Given the description of an element on the screen output the (x, y) to click on. 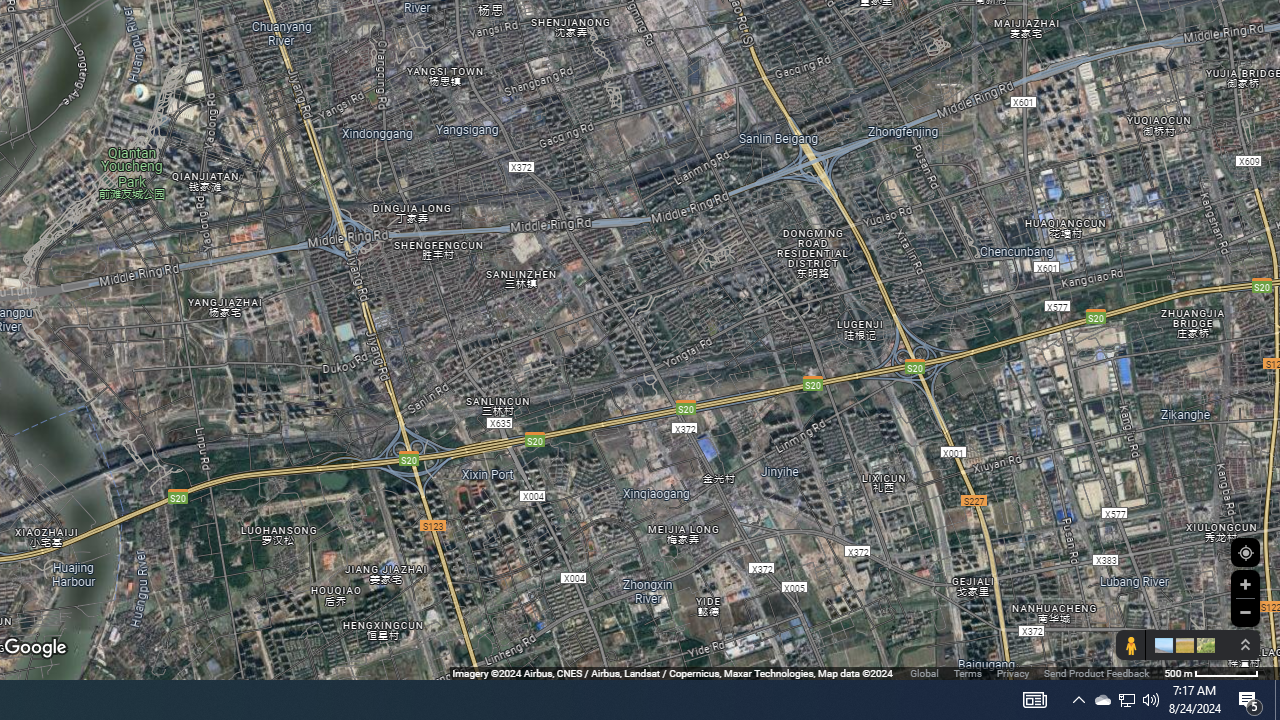
Show imagery (1202, 645)
Privacy (1012, 672)
Terms (967, 672)
500 m (1211, 672)
Send Product Feedback (1096, 672)
Zoom in (1245, 584)
Show Street View coverage (1130, 645)
Global (924, 672)
Zoom out (1245, 612)
Show Your Location (1245, 552)
